Given the description of an element on the screen output the (x, y) to click on. 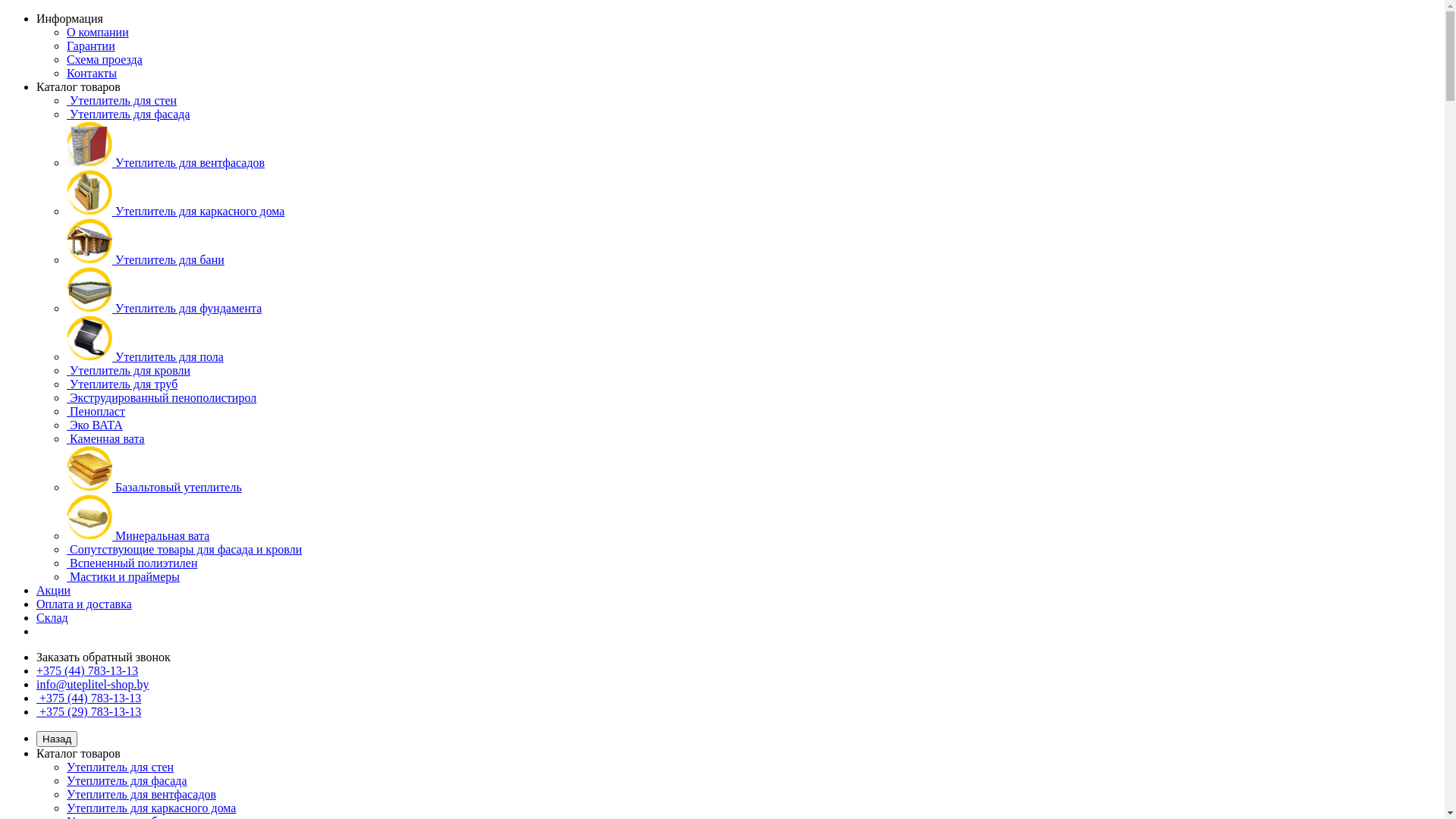
+375 (29) 783-13-13 Element type: text (88, 711)
info@uteplitel-shop.by Element type: text (92, 683)
+375 (44) 783-13-13 Element type: text (87, 670)
+375 (44) 783-13-13 Element type: text (88, 697)
